Given the description of an element on the screen output the (x, y) to click on. 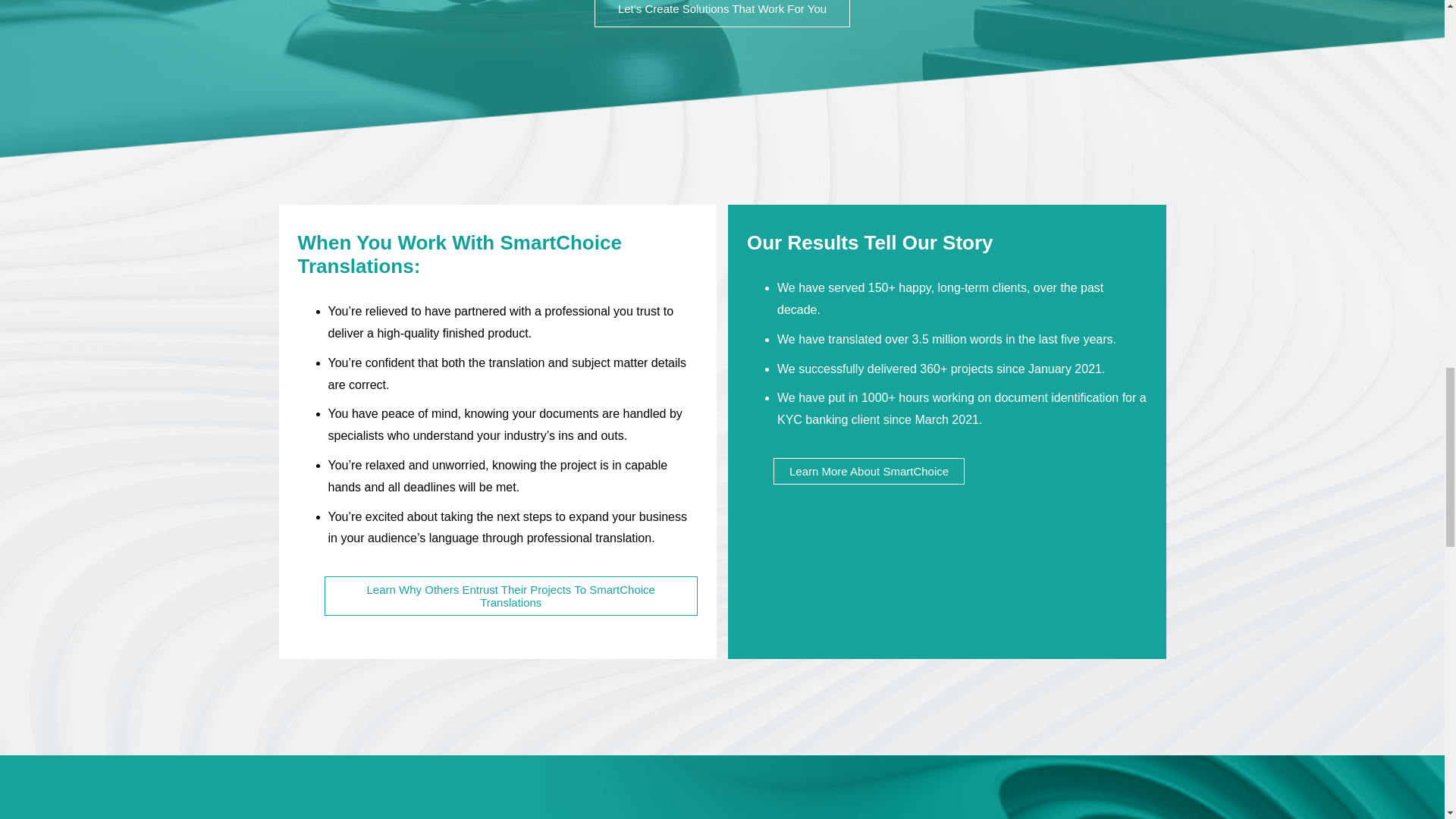
Work With Us (722, 13)
Learn More About SmartChoice (868, 470)
About Us (868, 470)
Why Choose Us (511, 595)
